Given the description of an element on the screen output the (x, y) to click on. 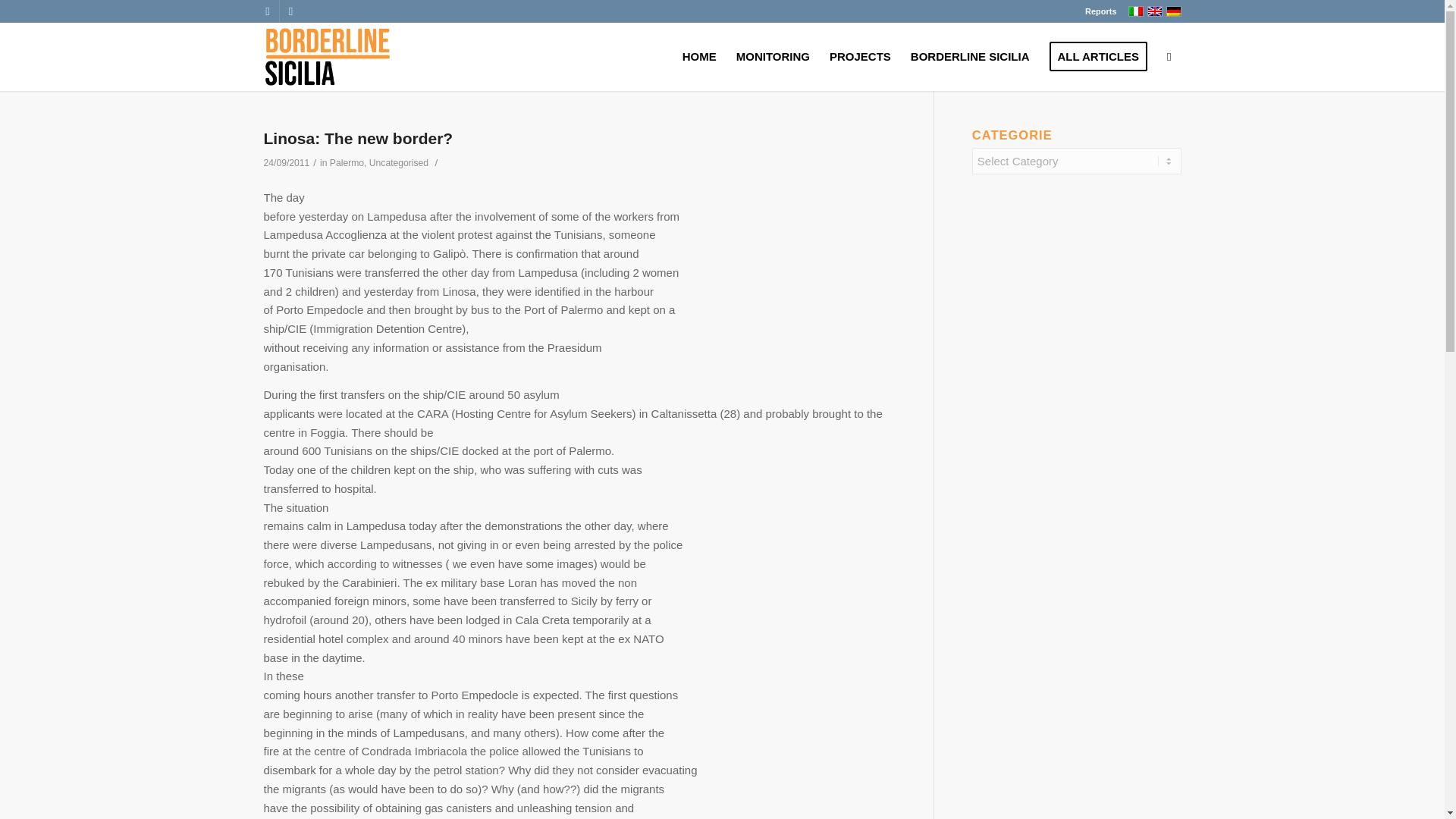
Twitter (290, 11)
English (1154, 10)
Italiano (1135, 10)
Deutsch (1173, 10)
Facebook (267, 11)
Permanent Link: Linosa: The new border? (357, 138)
PROJECTS (860, 56)
HOME (699, 56)
MONITORING (772, 56)
Reports (1100, 11)
BORDERLINE SICILIA (970, 56)
ALL ARTICLES (1098, 56)
Linosa: The new border? (357, 138)
Uncategorised (398, 163)
Palermo (347, 163)
